Given the description of an element on the screen output the (x, y) to click on. 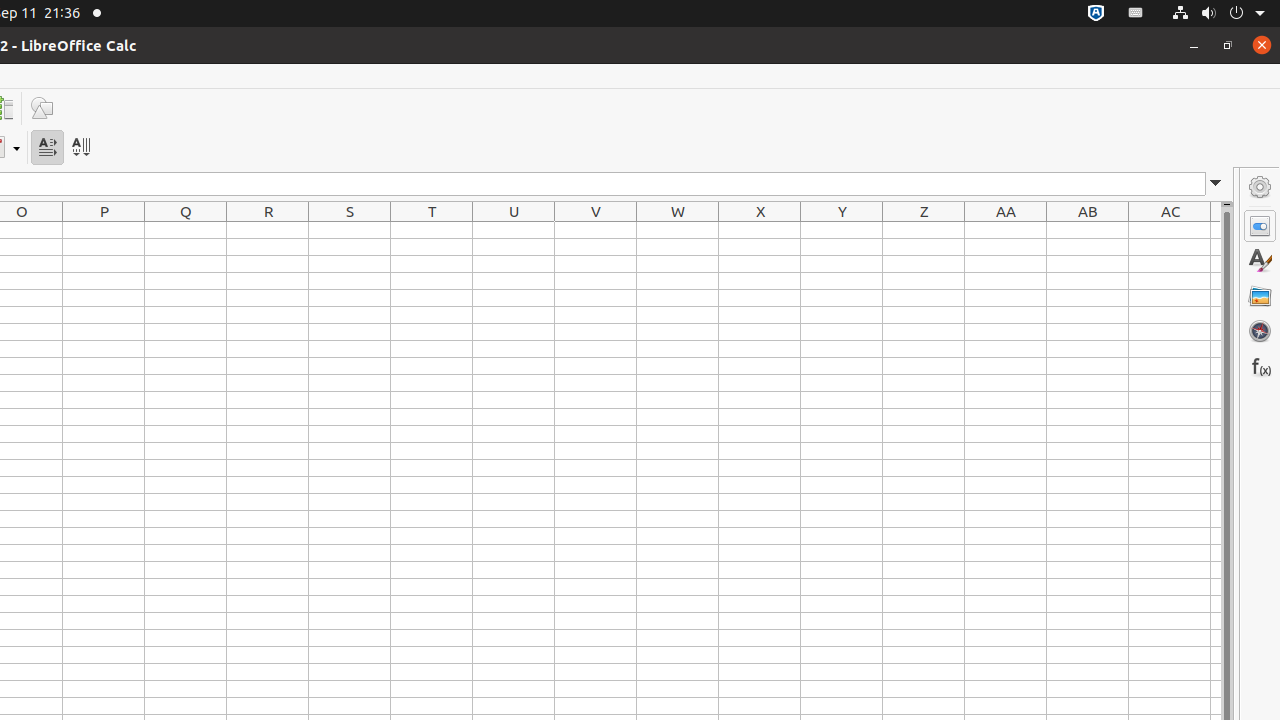
Expand Formula Bar Element type: push-button (1216, 183)
Text direction from top to bottom Element type: toggle-button (80, 147)
AB1 Element type: table-cell (1088, 230)
Navigator Element type: radio-button (1260, 331)
R1 Element type: table-cell (268, 230)
